Given the description of an element on the screen output the (x, y) to click on. 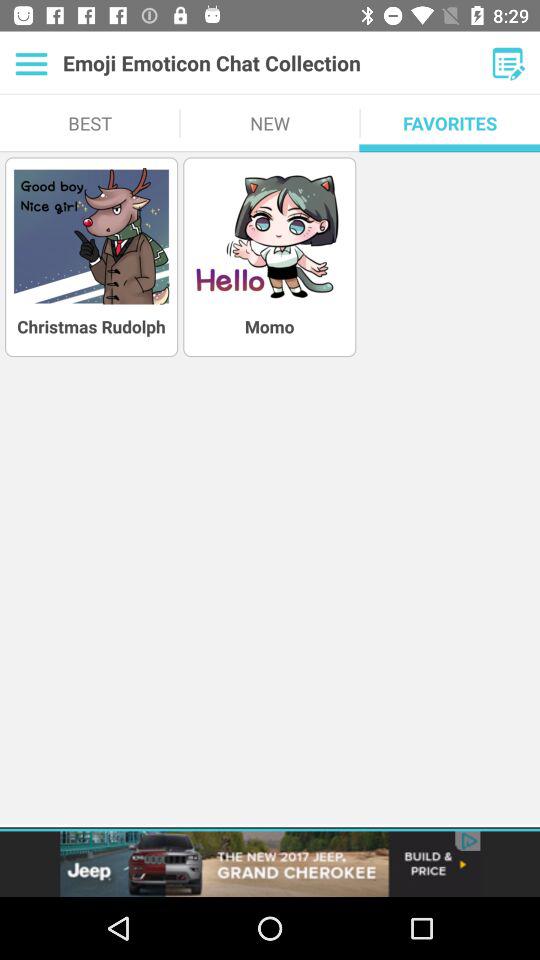
advertisement (270, 864)
